Given the description of an element on the screen output the (x, y) to click on. 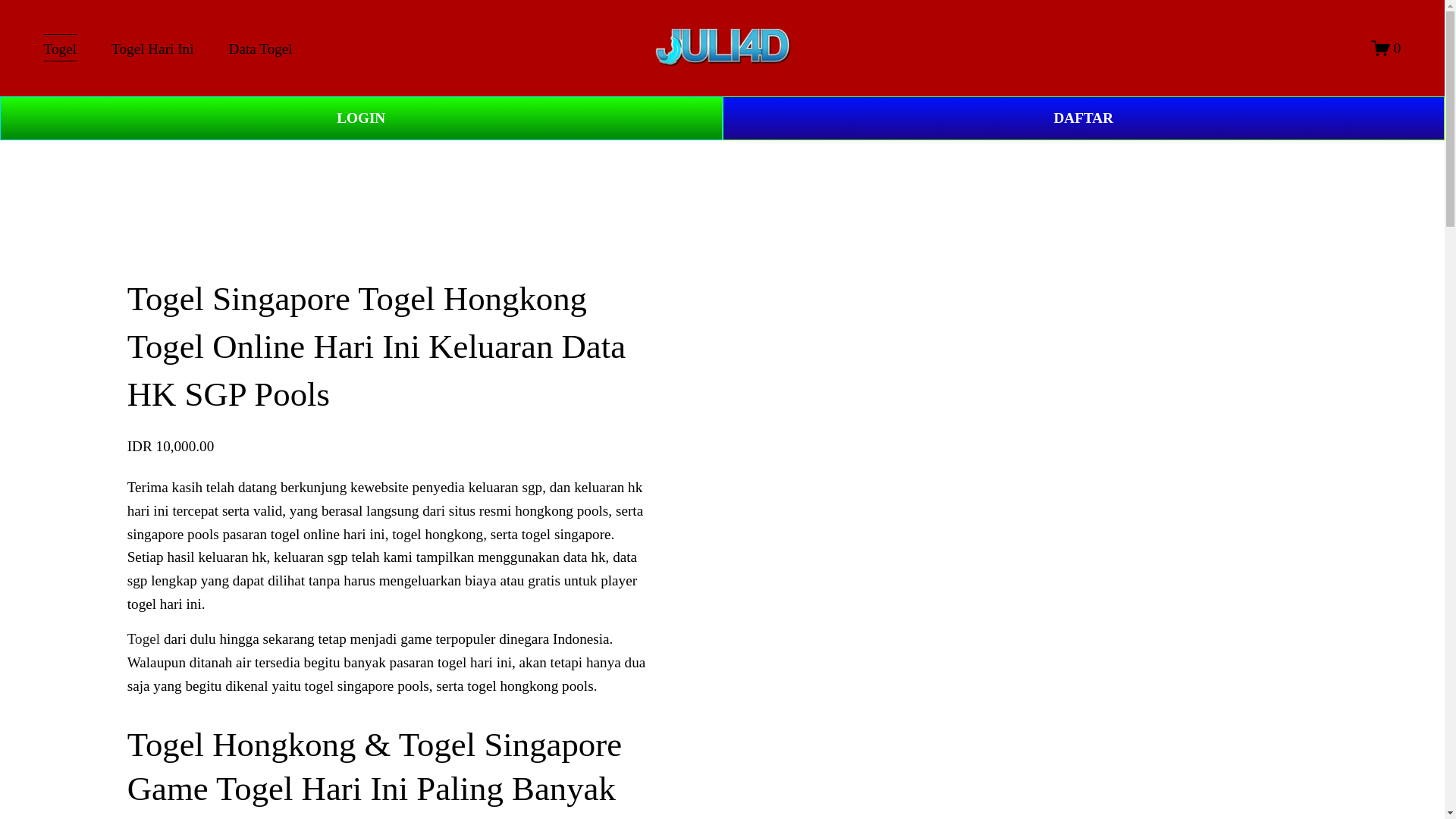
Togel (144, 638)
LOGIN (361, 118)
0 (1385, 47)
Togel Hari Ini (152, 49)
Data Togel (260, 49)
Togel (60, 49)
